Given the description of an element on the screen output the (x, y) to click on. 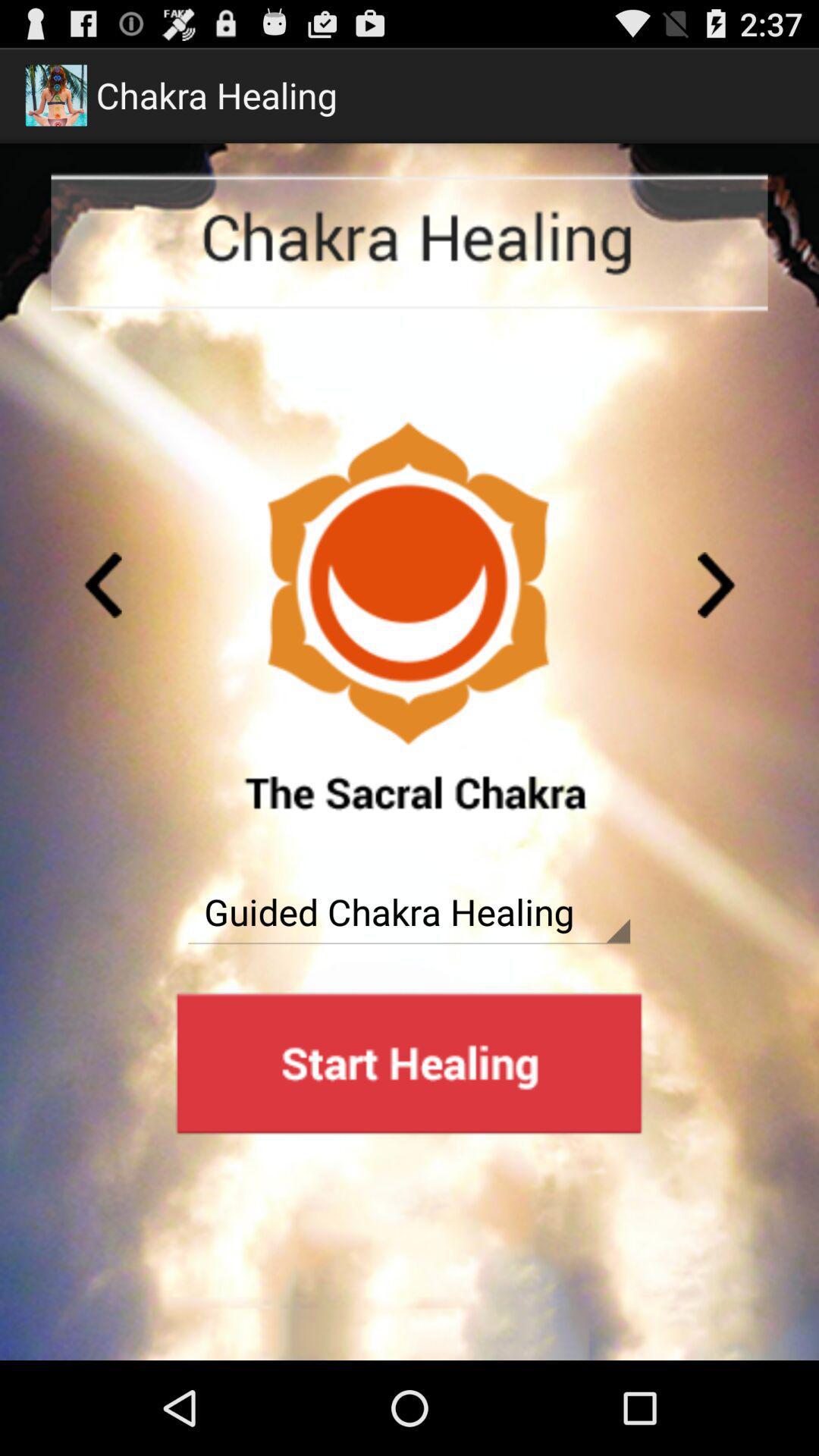
go to lleft (716, 585)
